Given the description of an element on the screen output the (x, y) to click on. 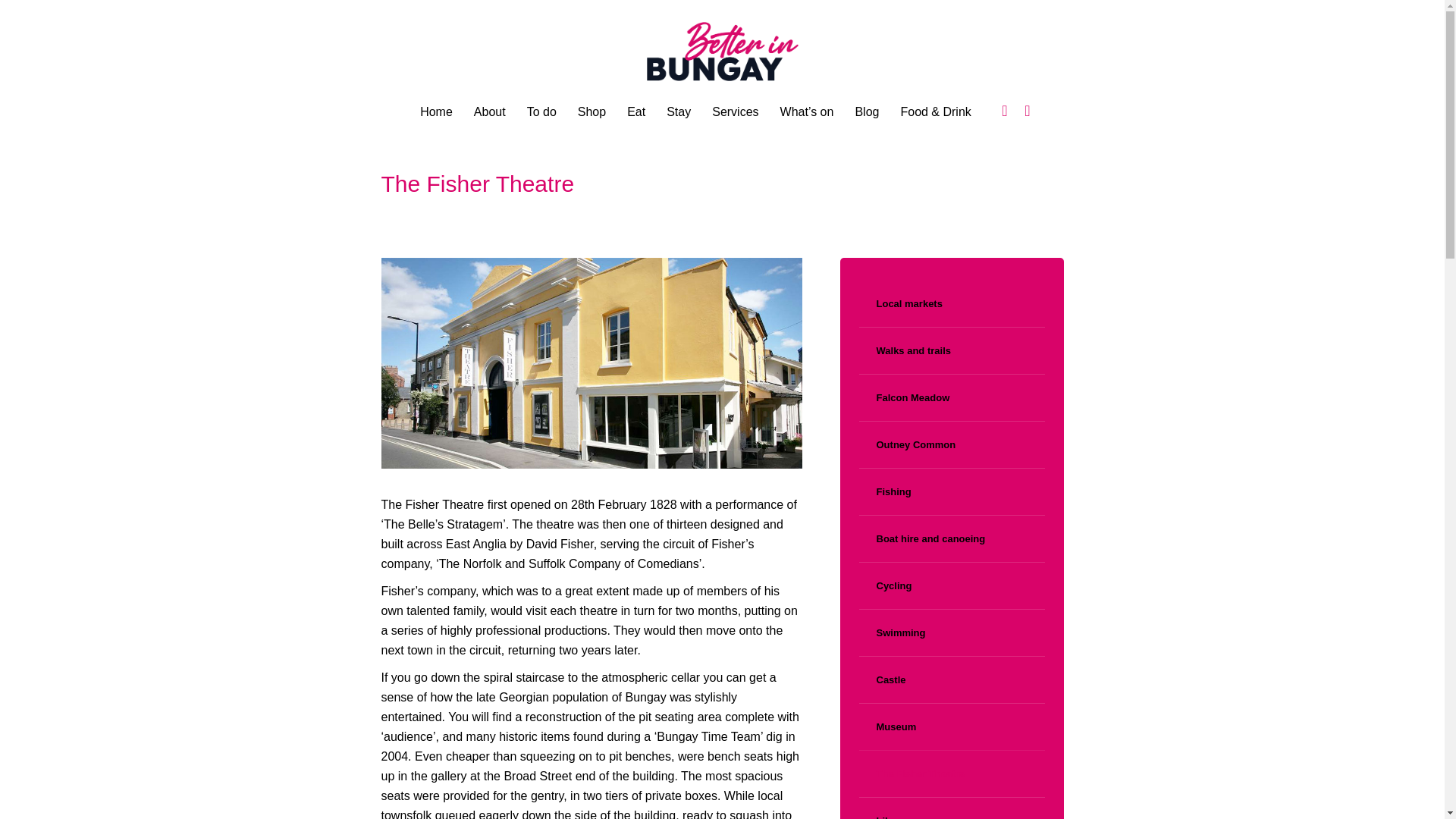
Shop (591, 111)
Swimming (891, 633)
Outney Common (907, 445)
Stay (678, 111)
Cycling (885, 585)
Fishing (885, 491)
Instagram (1027, 110)
Falcon Meadow (904, 398)
Blog (866, 111)
Eat (635, 111)
About (489, 111)
Facebook (1004, 110)
Instagram (1027, 110)
Walks and trails (904, 350)
Home (435, 111)
